Given the description of an element on the screen output the (x, y) to click on. 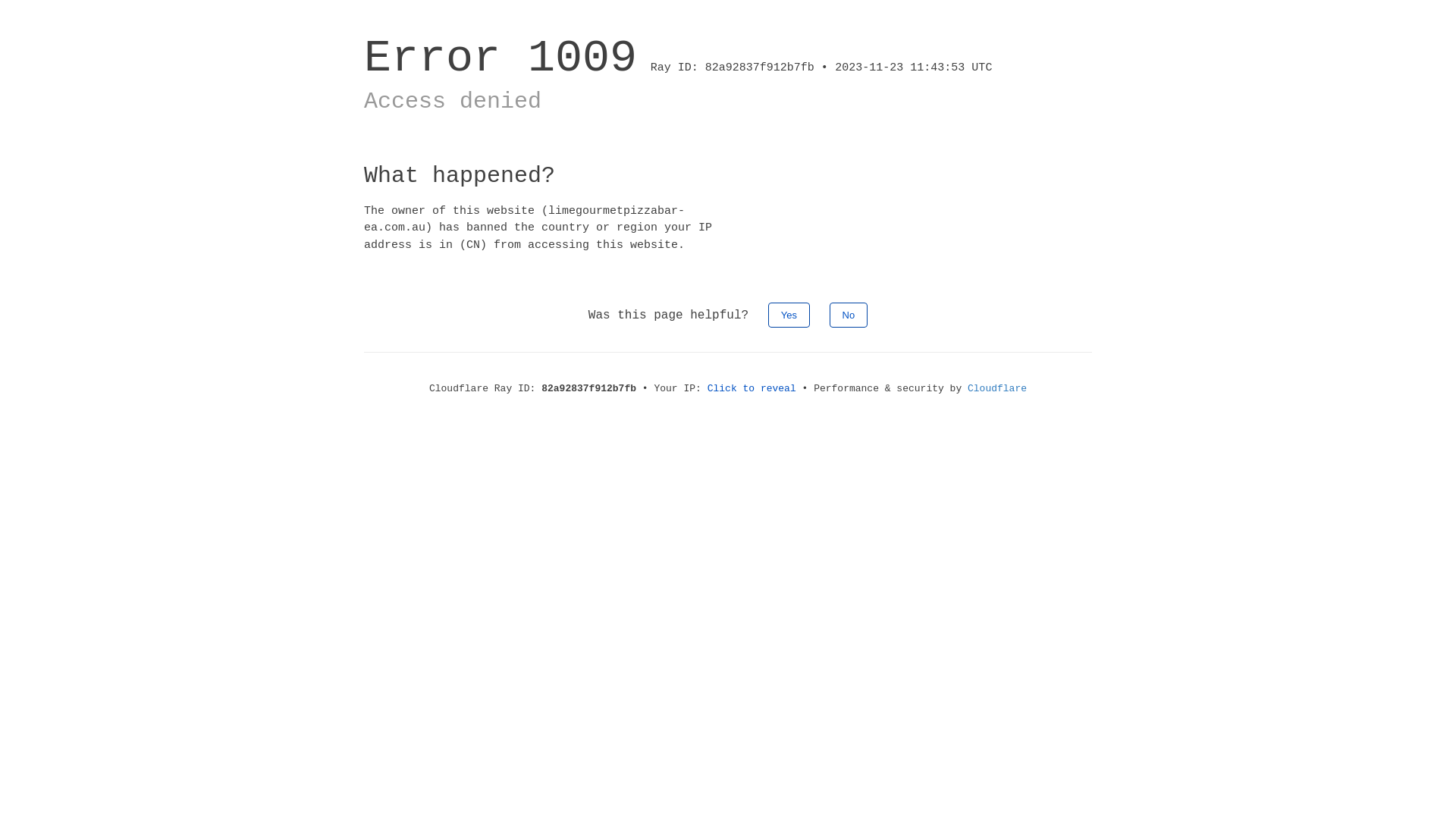
No Element type: text (848, 314)
Cloudflare Element type: text (996, 388)
Click to reveal Element type: text (751, 388)
Yes Element type: text (788, 314)
